Given the description of an element on the screen output the (x, y) to click on. 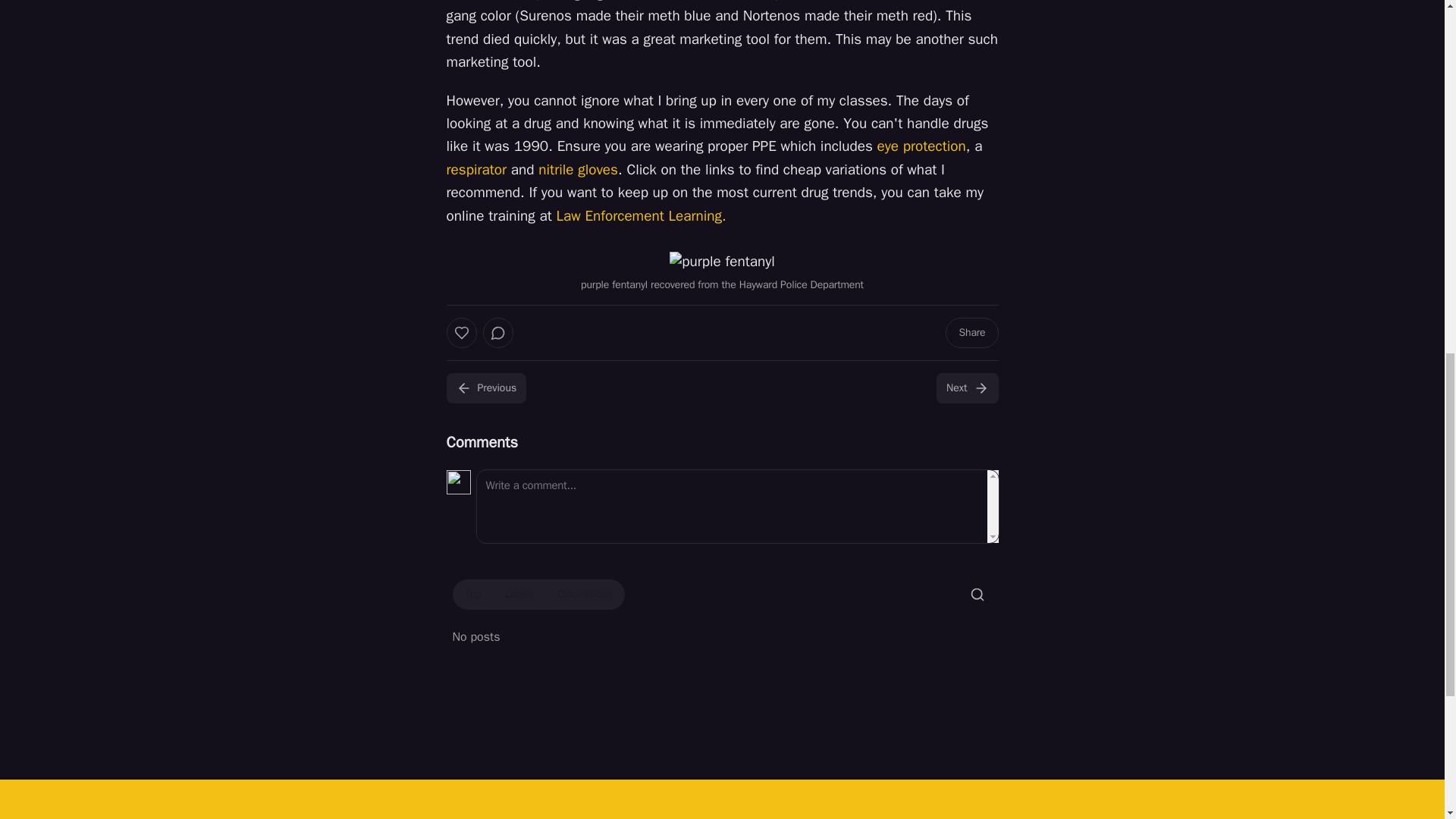
Share (970, 332)
Previous (485, 388)
purple fentanyl (721, 261)
Law Enforcement Learning. (640, 216)
eye protection (921, 146)
respirator (475, 169)
nitrile gloves (577, 169)
